Given the description of an element on the screen output the (x, y) to click on. 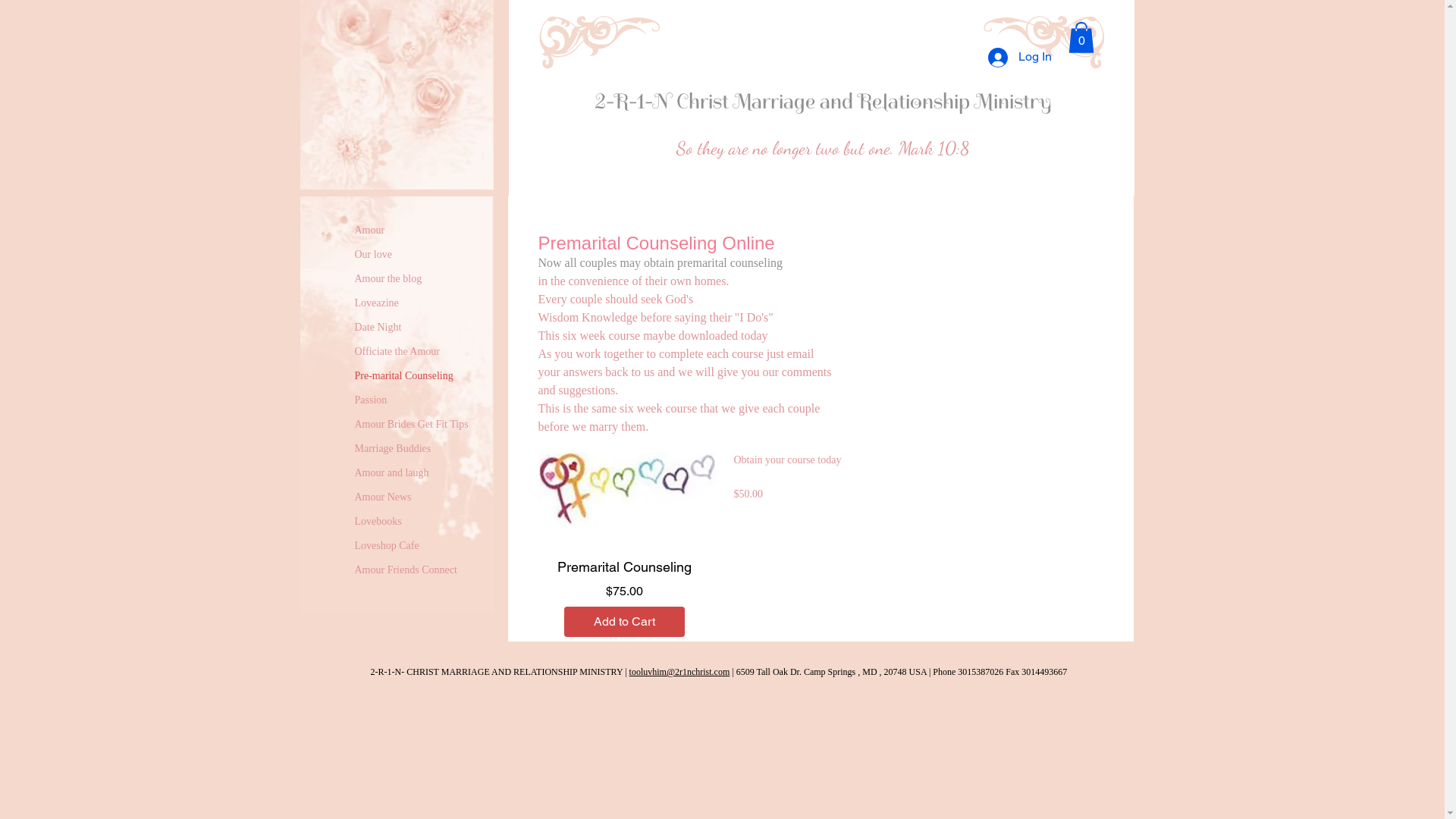
Premarital Counseling
$75.00
Price
Add to Cart Element type: text (624, 597)
Officiate the Amour Element type: text (397, 351)
Marriage Buddies Element type: text (393, 448)
Add to Cart Element type: text (624, 621)
Loveshop Cafe Element type: text (386, 545)
Loveazine Element type: text (376, 302)
Date Night Element type: text (378, 327)
Pre-marital Counseling Element type: text (404, 375)
Amour and laugh Element type: text (391, 472)
Amour Element type: text (369, 230)
Amour Friends Connect Element type: text (405, 569)
Passion Element type: text (371, 400)
0 Element type: text (1080, 37)
Amour News Element type: text (383, 497)
Our love Element type: text (373, 254)
tooluvhim@2r1nchrist.com Element type: text (679, 667)
Amour Brides Get Fit Tips Element type: text (411, 424)
Amour the blog Element type: text (388, 278)
Lovebooks Element type: text (378, 521)
Log In Element type: text (1018, 57)
